Given the description of an element on the screen output the (x, y) to click on. 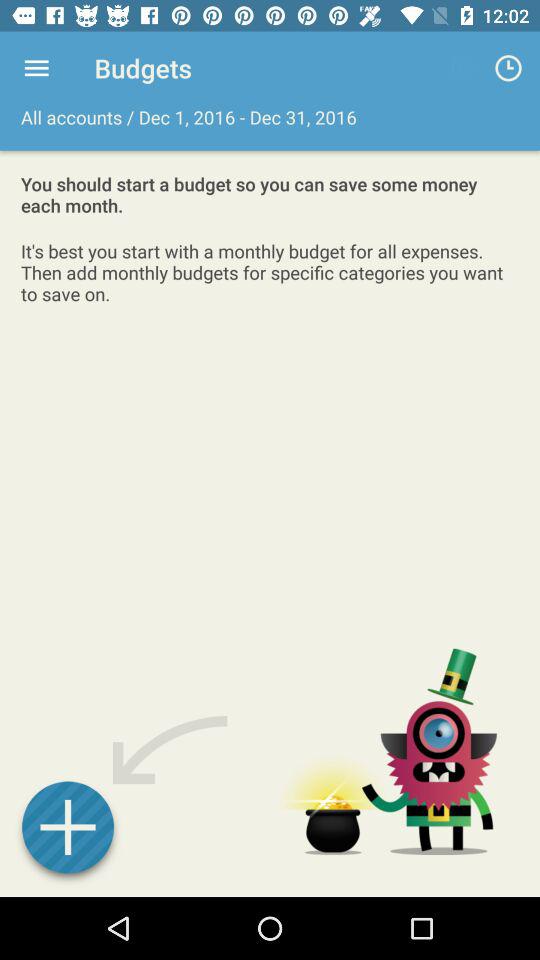
turn on the item to the left of the budgets (36, 68)
